Given the description of an element on the screen output the (x, y) to click on. 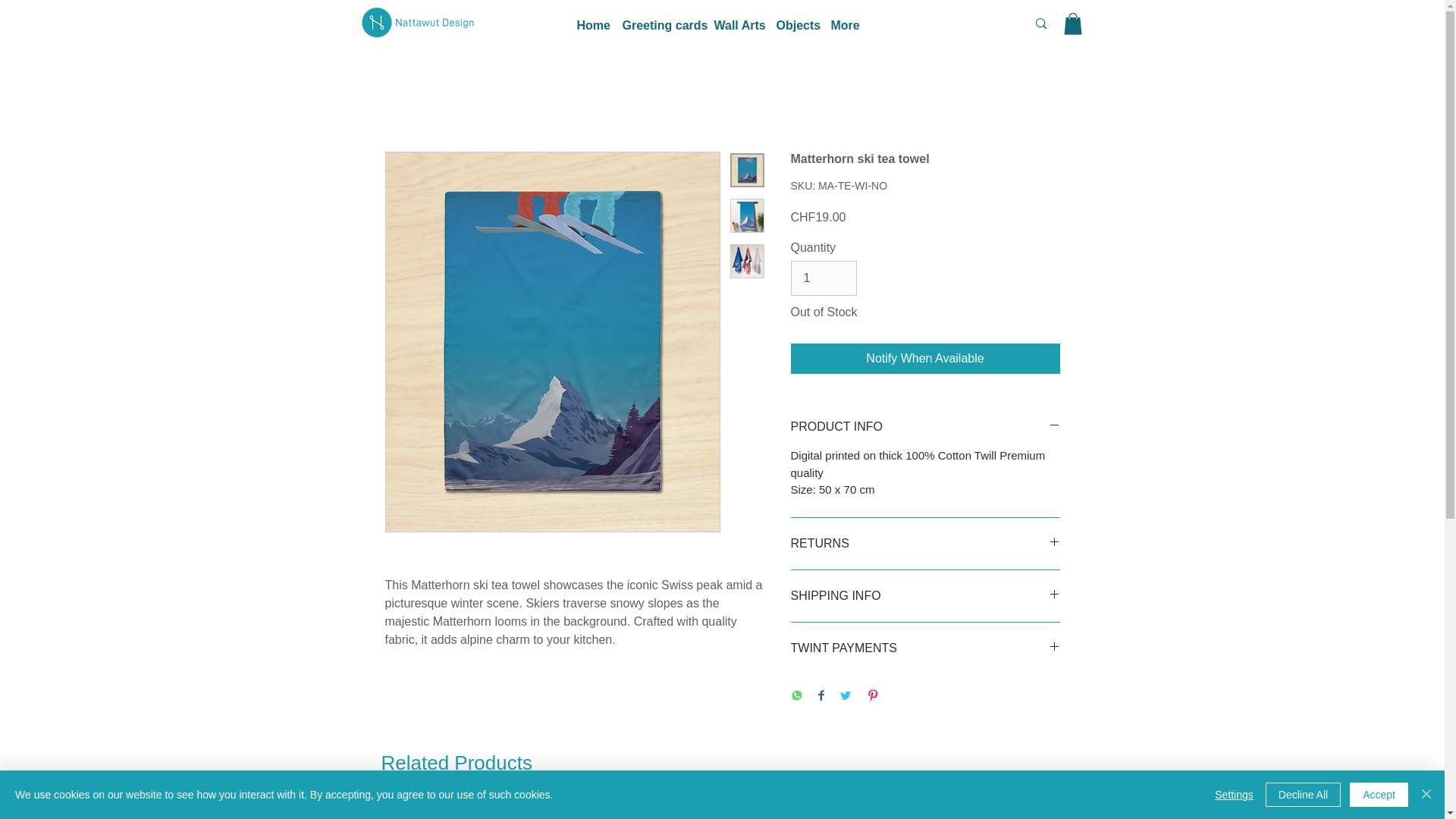
1 (823, 278)
New (721, 810)
Objects (796, 25)
New (442, 810)
RETURNS (924, 543)
New (861, 810)
PRODUCT INFO (924, 426)
Greeting cards (660, 25)
Home (591, 25)
New (582, 810)
Notify When Available (924, 358)
Wall Arts (737, 25)
TWINT PAYMENTS (924, 648)
SHIPPING INFO (924, 595)
